Given the description of an element on the screen output the (x, y) to click on. 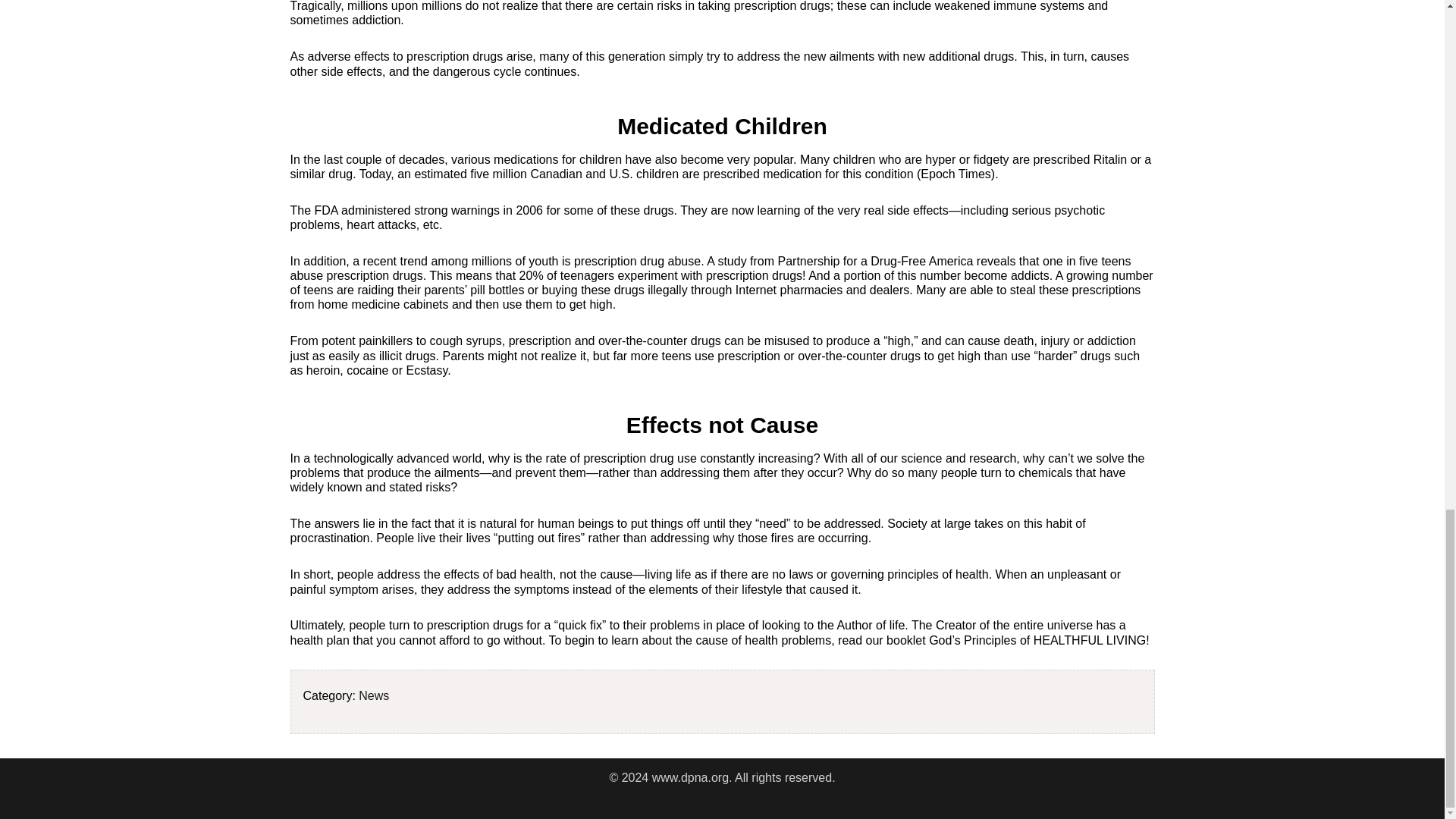
News (373, 695)
